Given the description of an element on the screen output the (x, y) to click on. 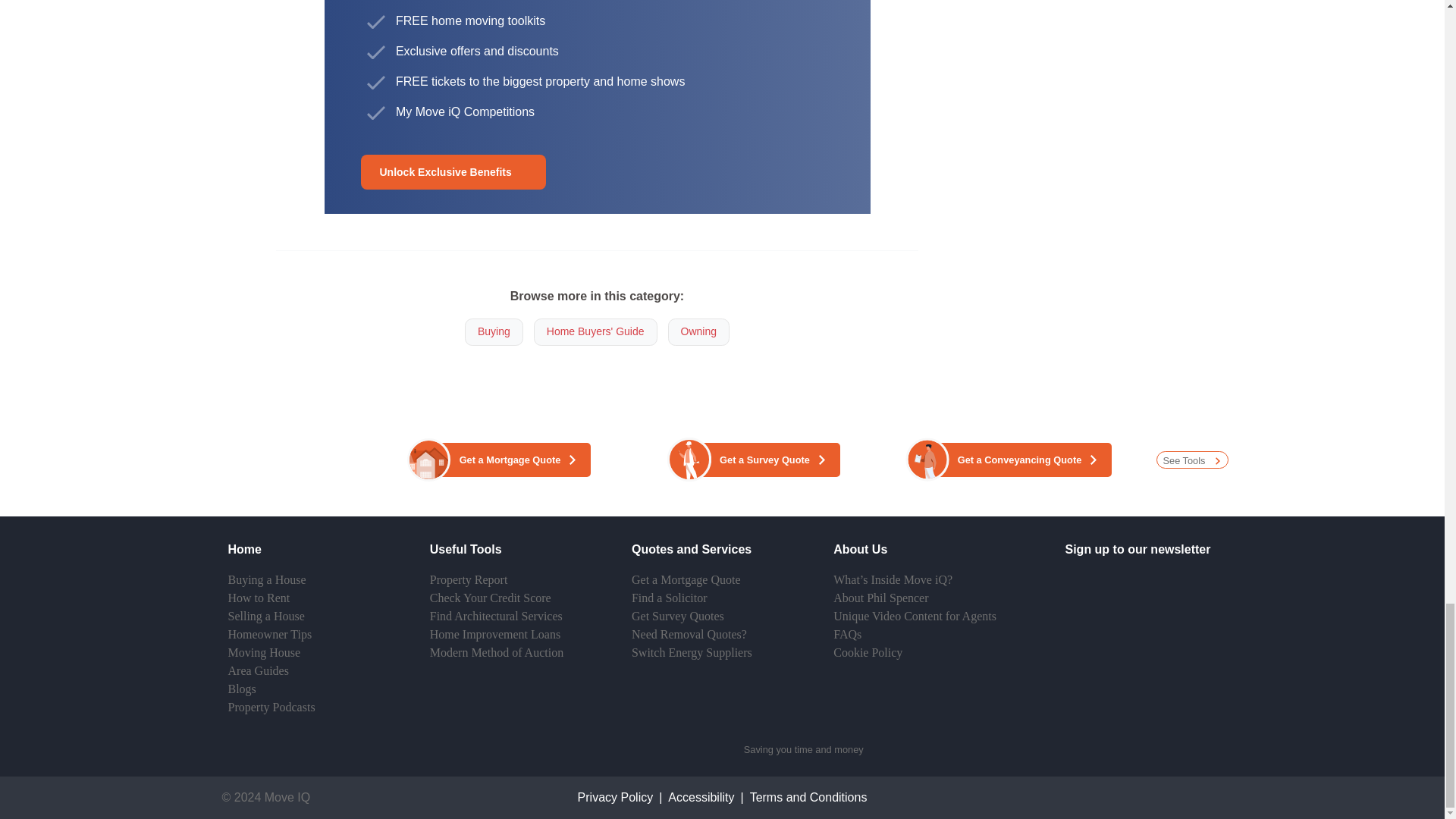
Get a Conveyancing Quote (1019, 459)
Accessibility (700, 797)
Get a Survey Quote (764, 459)
Privacy Policy (615, 797)
Terms and Conditions (808, 797)
Get a Mortgage Quote (510, 459)
